Given the description of an element on the screen output the (x, y) to click on. 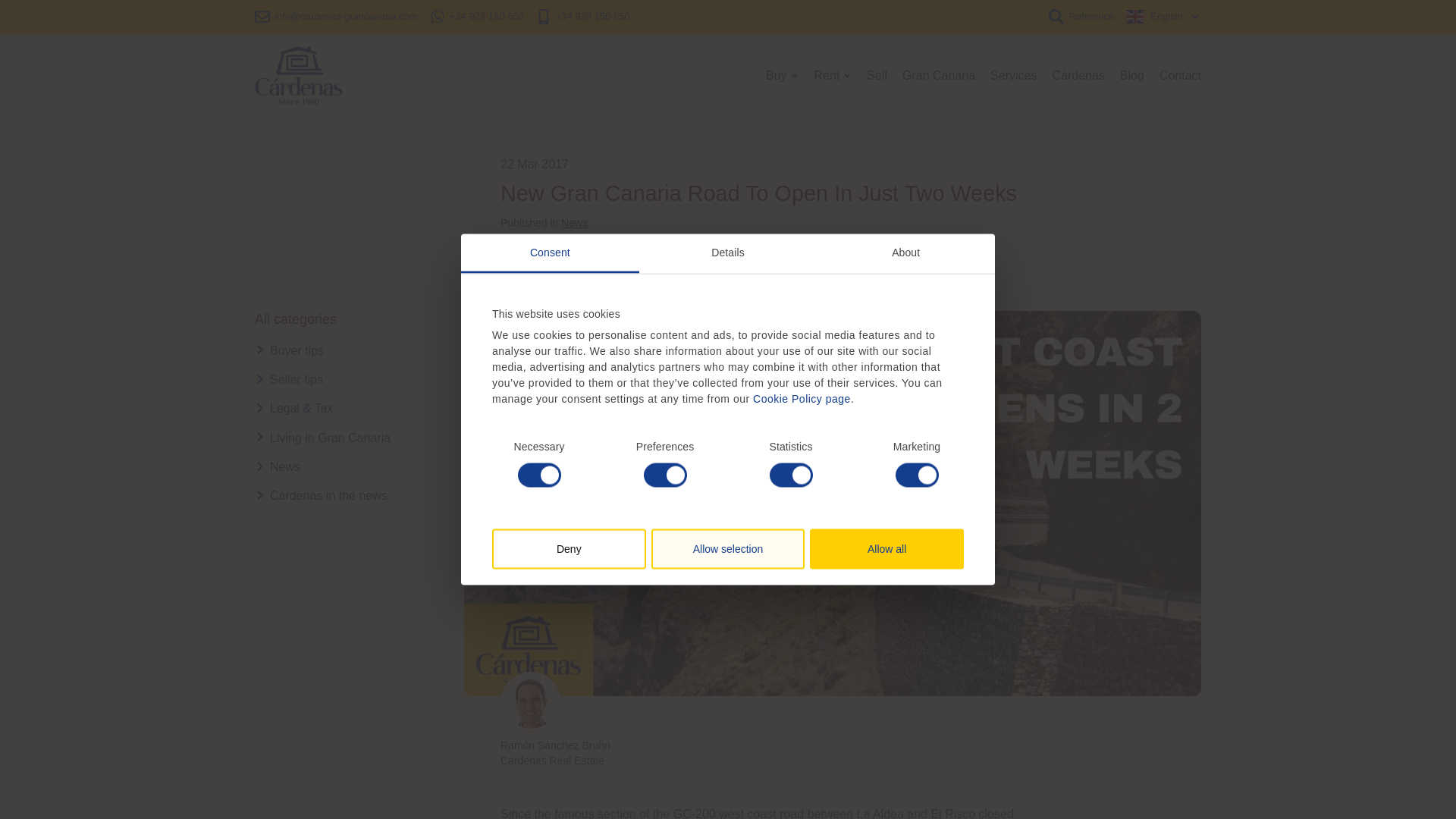
Consent (550, 253)
Cookie Policy page (801, 398)
About (905, 253)
Details (727, 253)
